Given the description of an element on the screen output the (x, y) to click on. 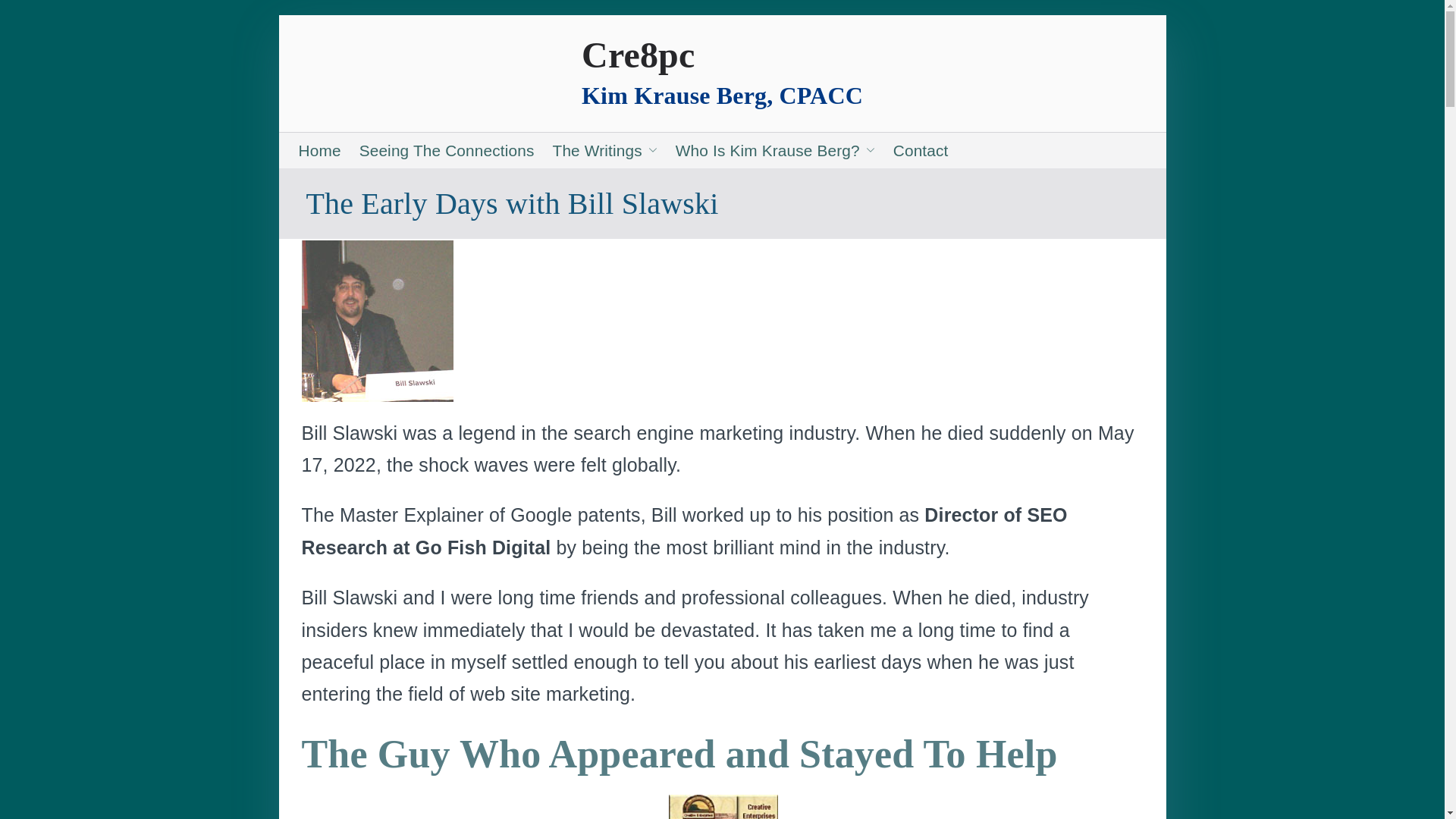
The Writings (605, 150)
Seeing The Connections (446, 150)
Cre8pc (637, 55)
Who Is Kim Krause Berg? (775, 150)
Contact (921, 150)
Home (319, 150)
